Given the description of an element on the screen output the (x, y) to click on. 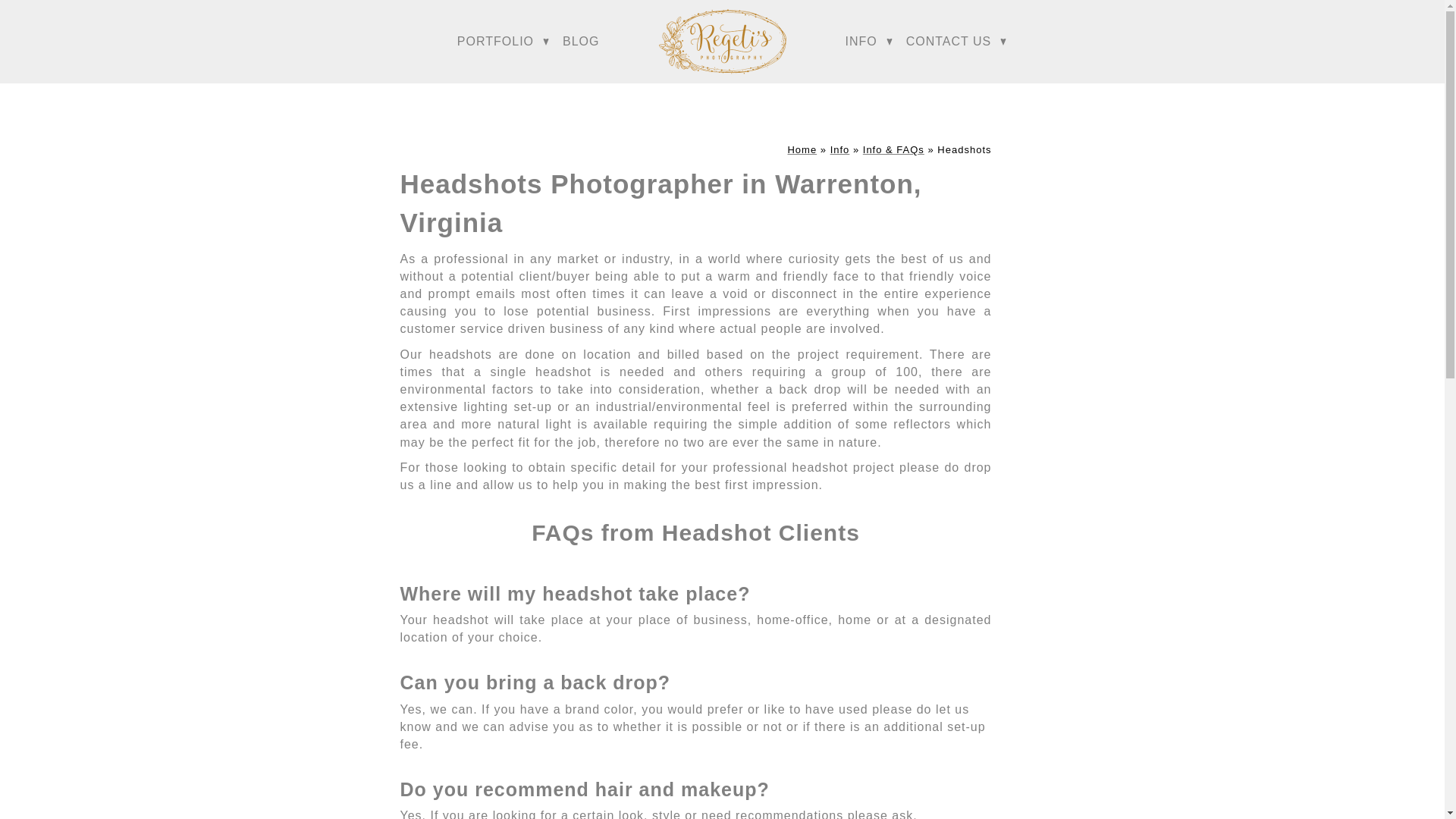
INFO (860, 41)
Info (839, 149)
PORTFOLIO (495, 41)
CONTACT US (948, 41)
DC and Destination Wedding Photographers - Regeti's (801, 149)
Regeti's South Asian Wedding Photography Logo (722, 41)
BLOG (580, 41)
